Given the description of an element on the screen output the (x, y) to click on. 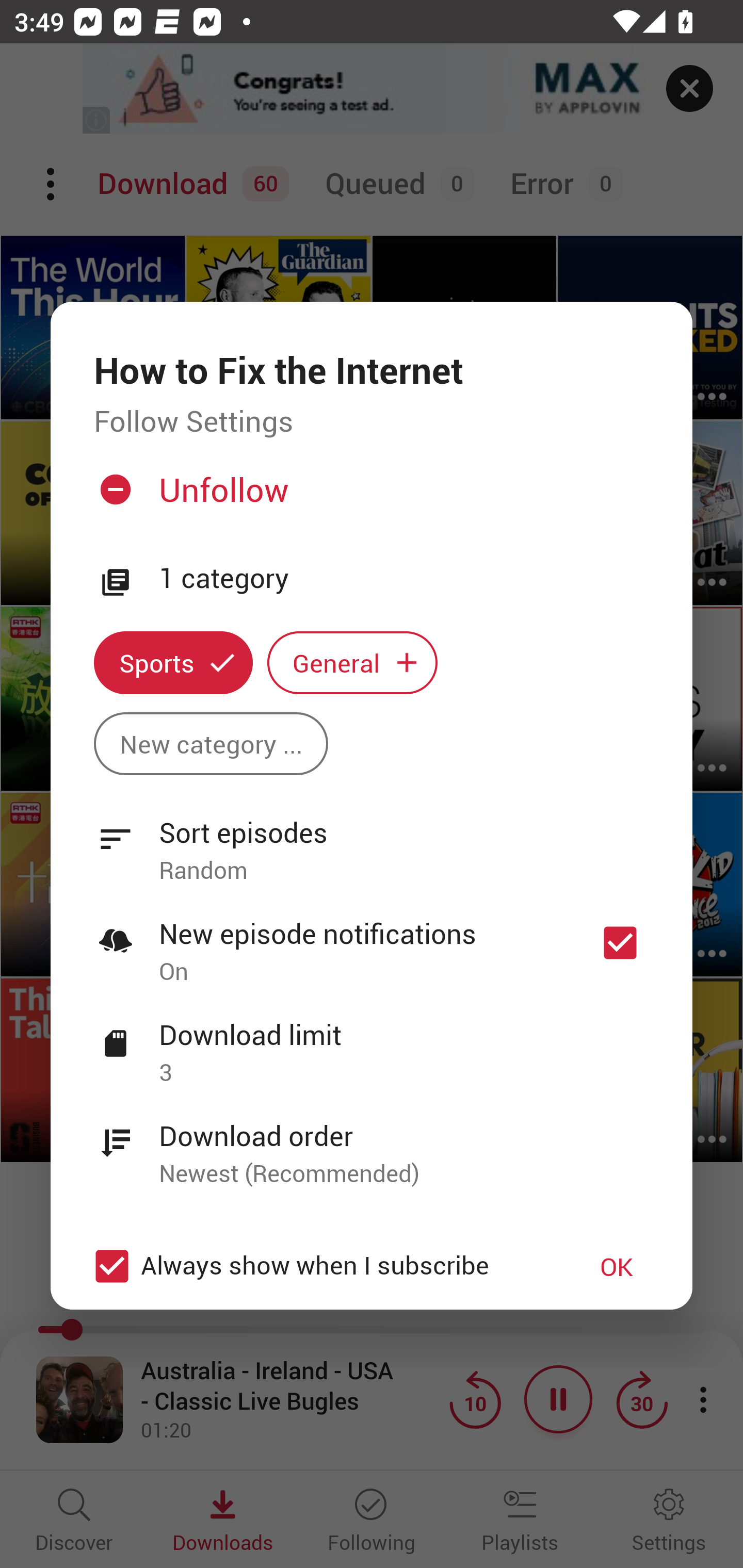
Unfollow (369, 496)
1 category (404, 578)
Sports (172, 662)
General (352, 662)
New category ... (210, 742)
Sort episodes Random (371, 840)
New episode notifications (620, 943)
Download limit 3 (371, 1042)
Download order Newest (Recommended) (371, 1143)
OK (616, 1266)
Always show when I subscribe (320, 1266)
